Given the description of an element on the screen output the (x, y) to click on. 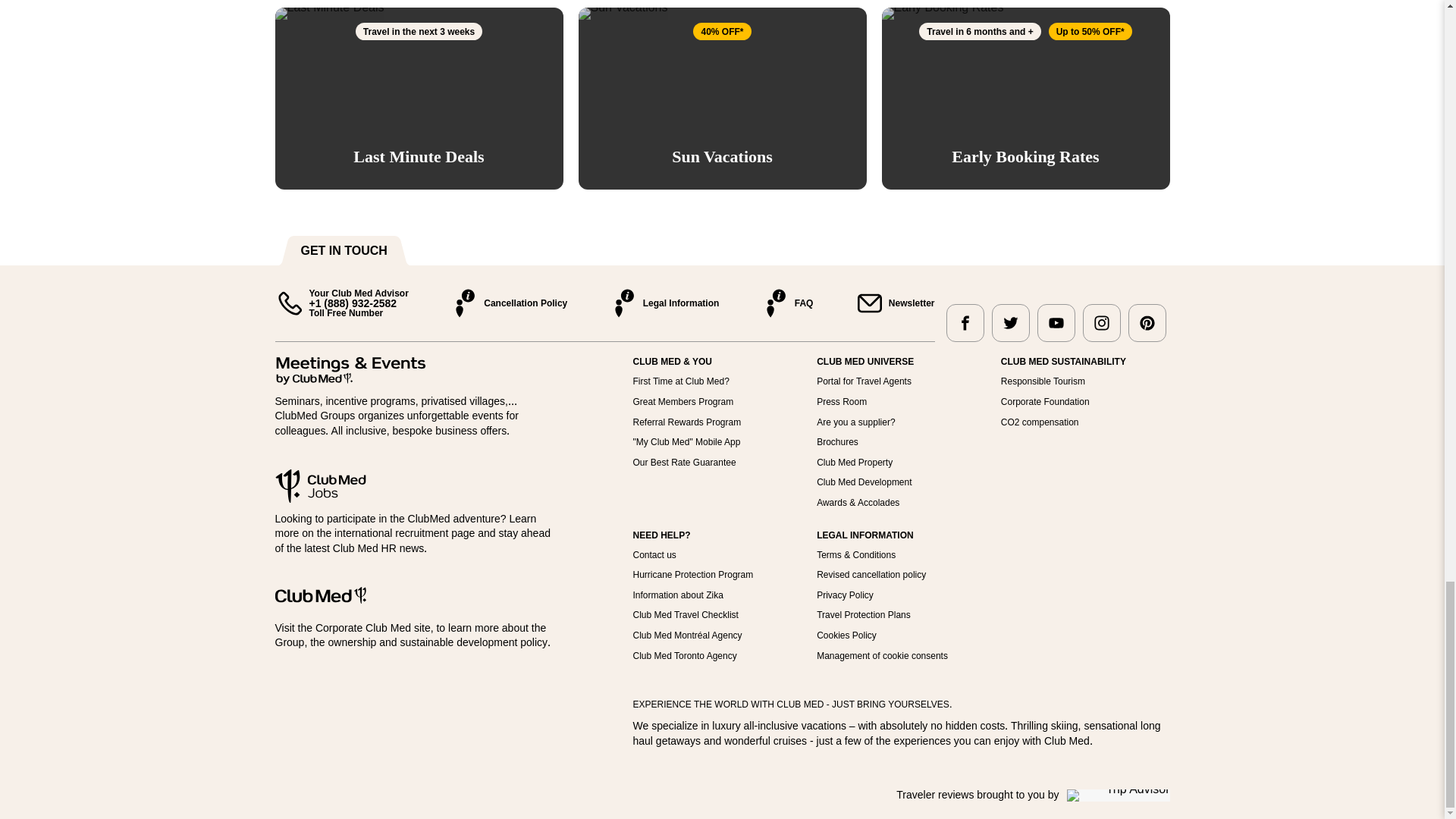
FAQ (786, 303)
Newsletter (894, 303)
Legal Information (663, 303)
Cancellation Policy (508, 303)
Your Club Med Advisor Toll Free Number (341, 303)
